Given the description of an element on the screen output the (x, y) to click on. 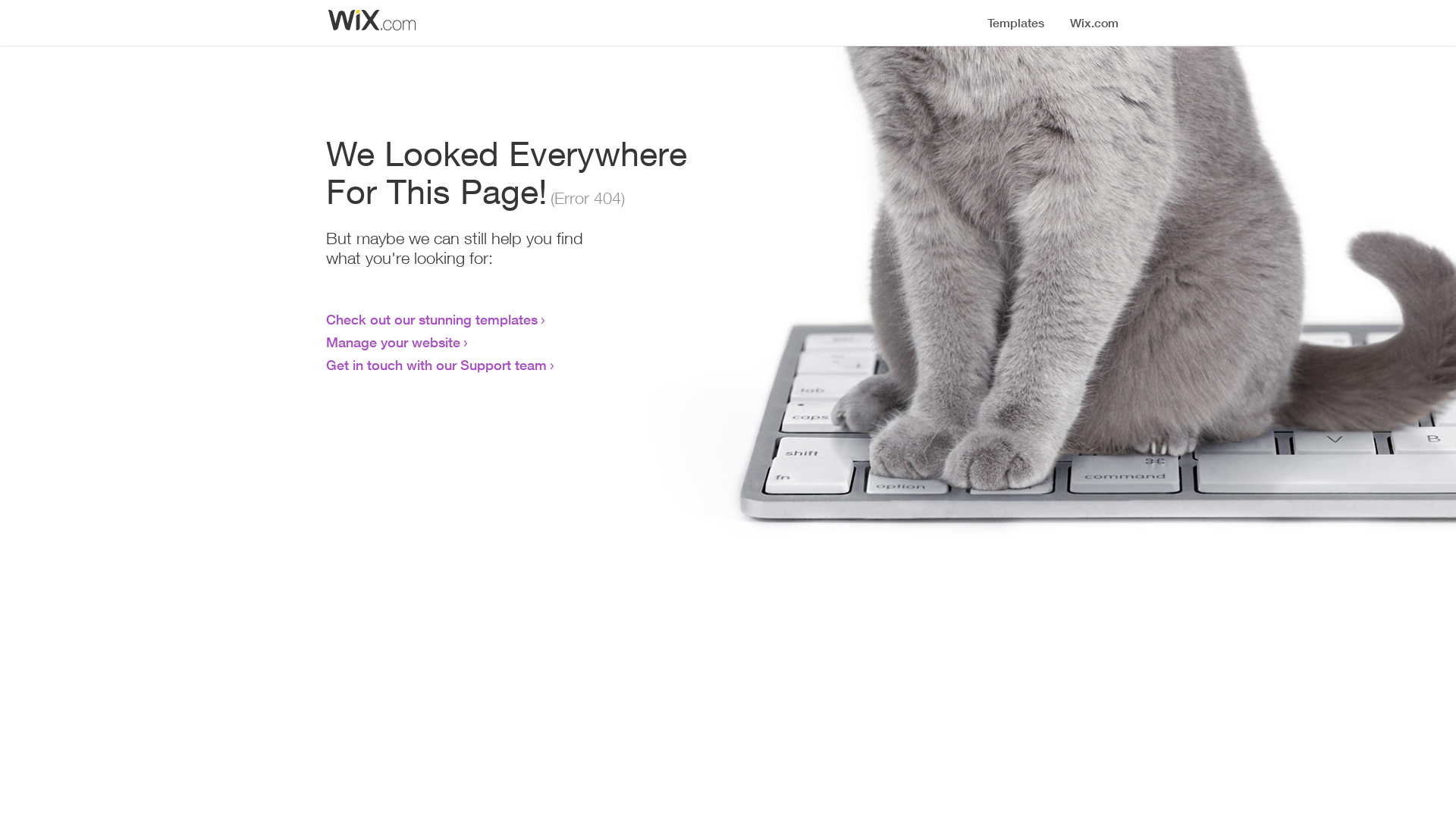
Manage your website Element type: text (393, 341)
Get in touch with our Support team Element type: text (436, 364)
Check out our stunning templates Element type: text (431, 318)
